Given the description of an element on the screen output the (x, y) to click on. 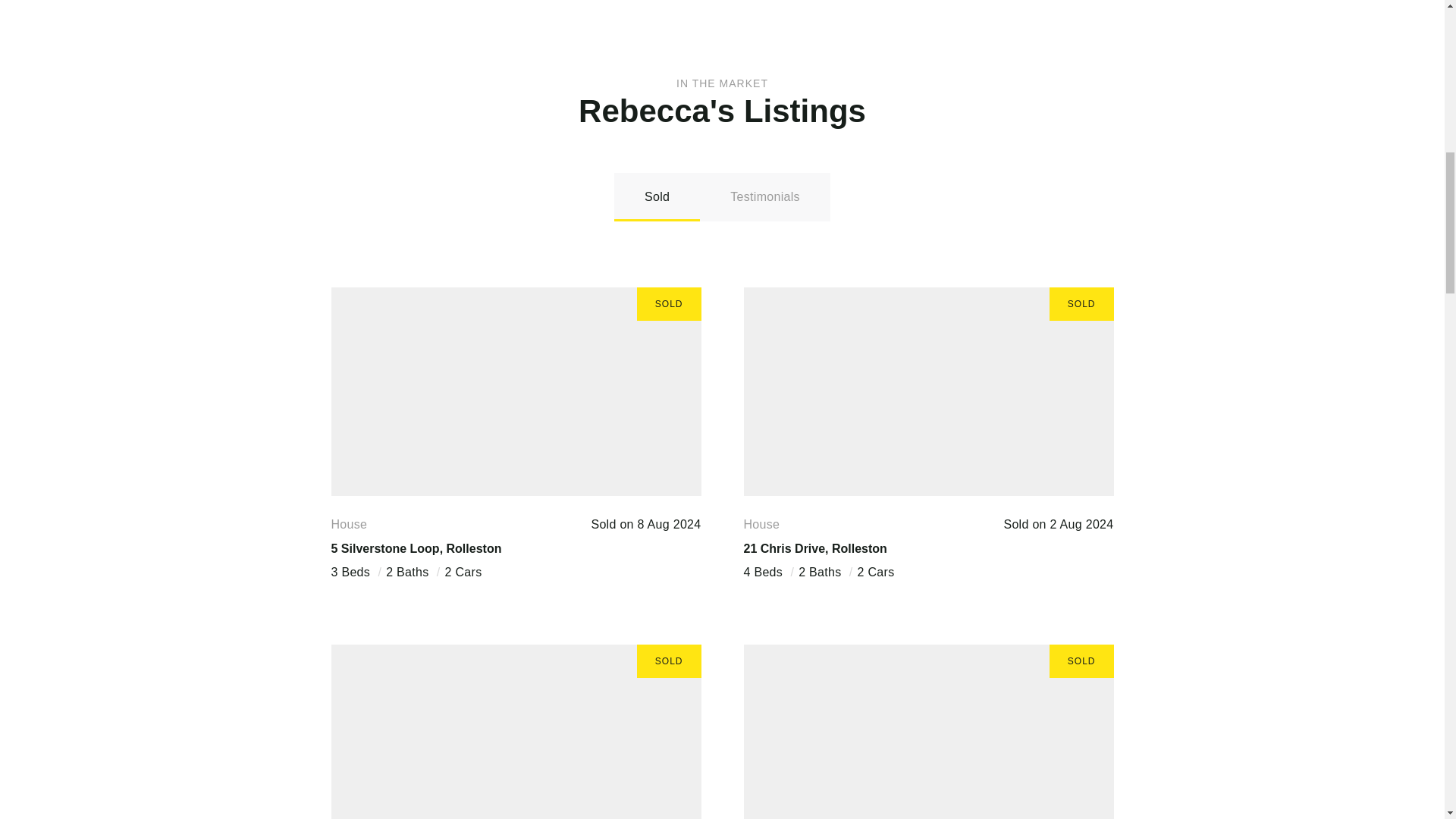
5 Silverstone Loop, Rolleston (415, 547)
21 Chris Drive, Rolleston (814, 547)
SOLD (927, 731)
SOLD (927, 391)
SOLD (515, 391)
SOLD (515, 731)
